Given the description of an element on the screen output the (x, y) to click on. 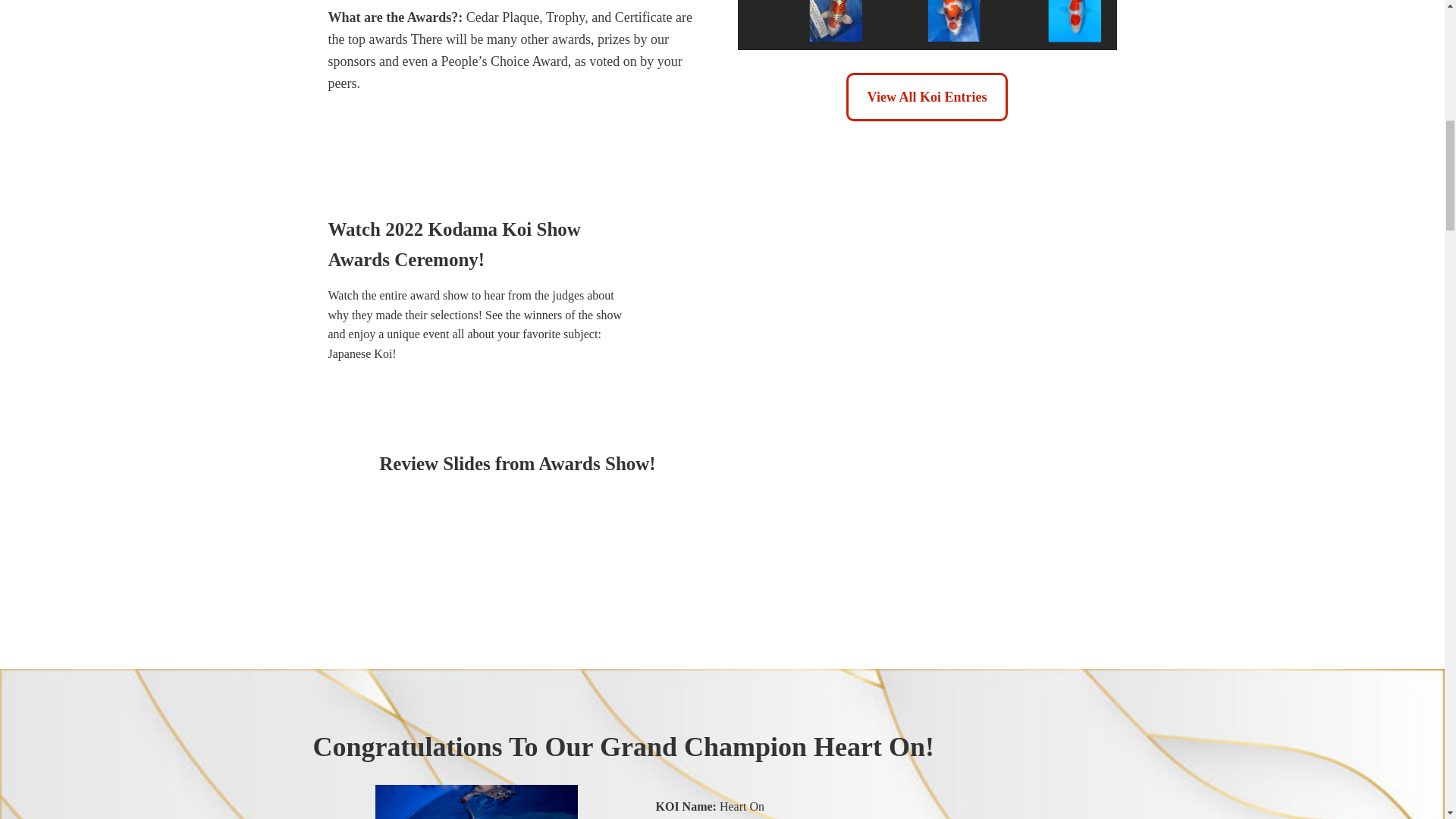
View All Koi Entries (926, 97)
